Given the description of an element on the screen output the (x, y) to click on. 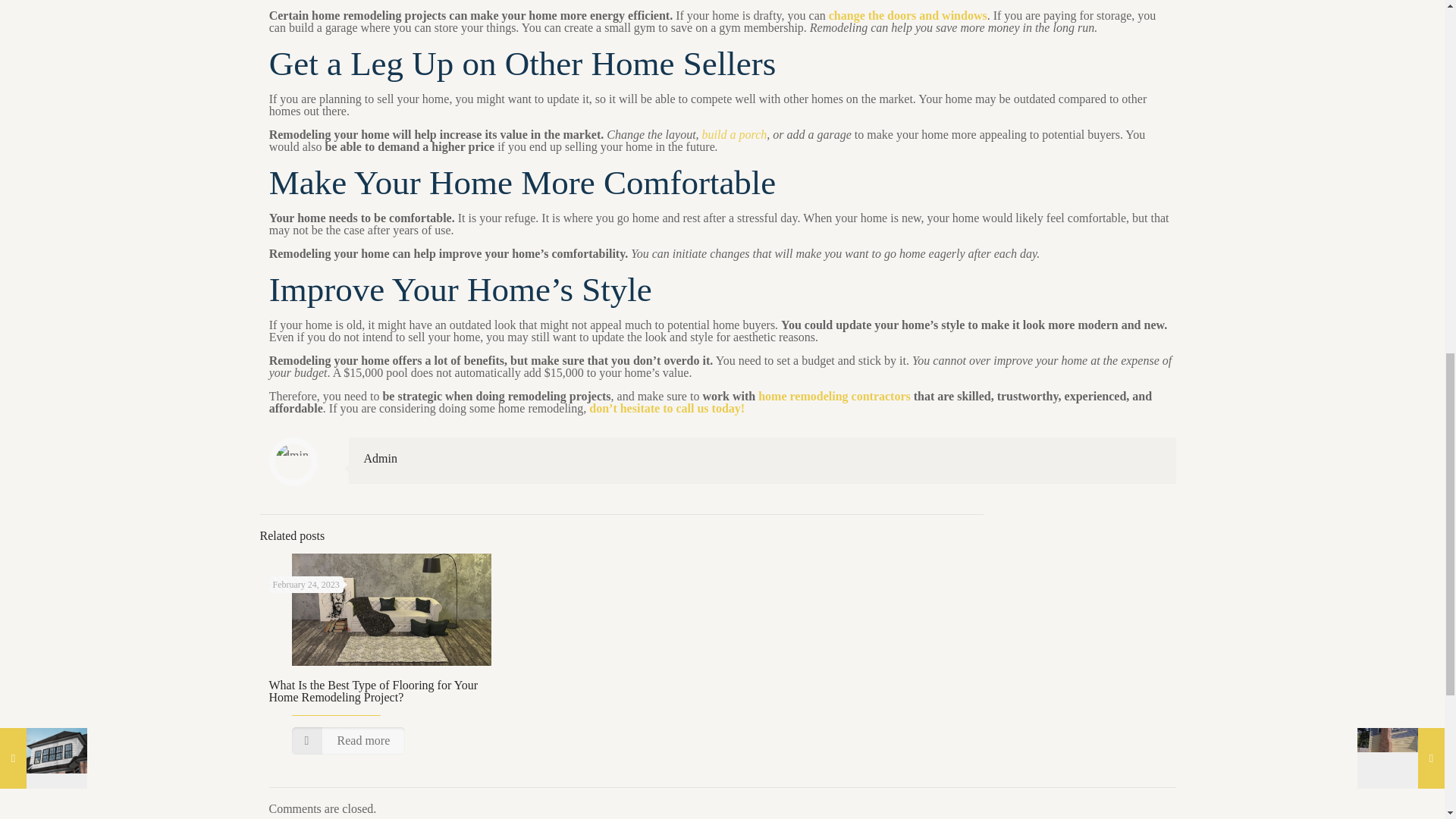
build a porch (734, 133)
Admin (380, 458)
home remodeling contractors (834, 395)
change the doors and windows (907, 15)
